Given the description of an element on the screen output the (x, y) to click on. 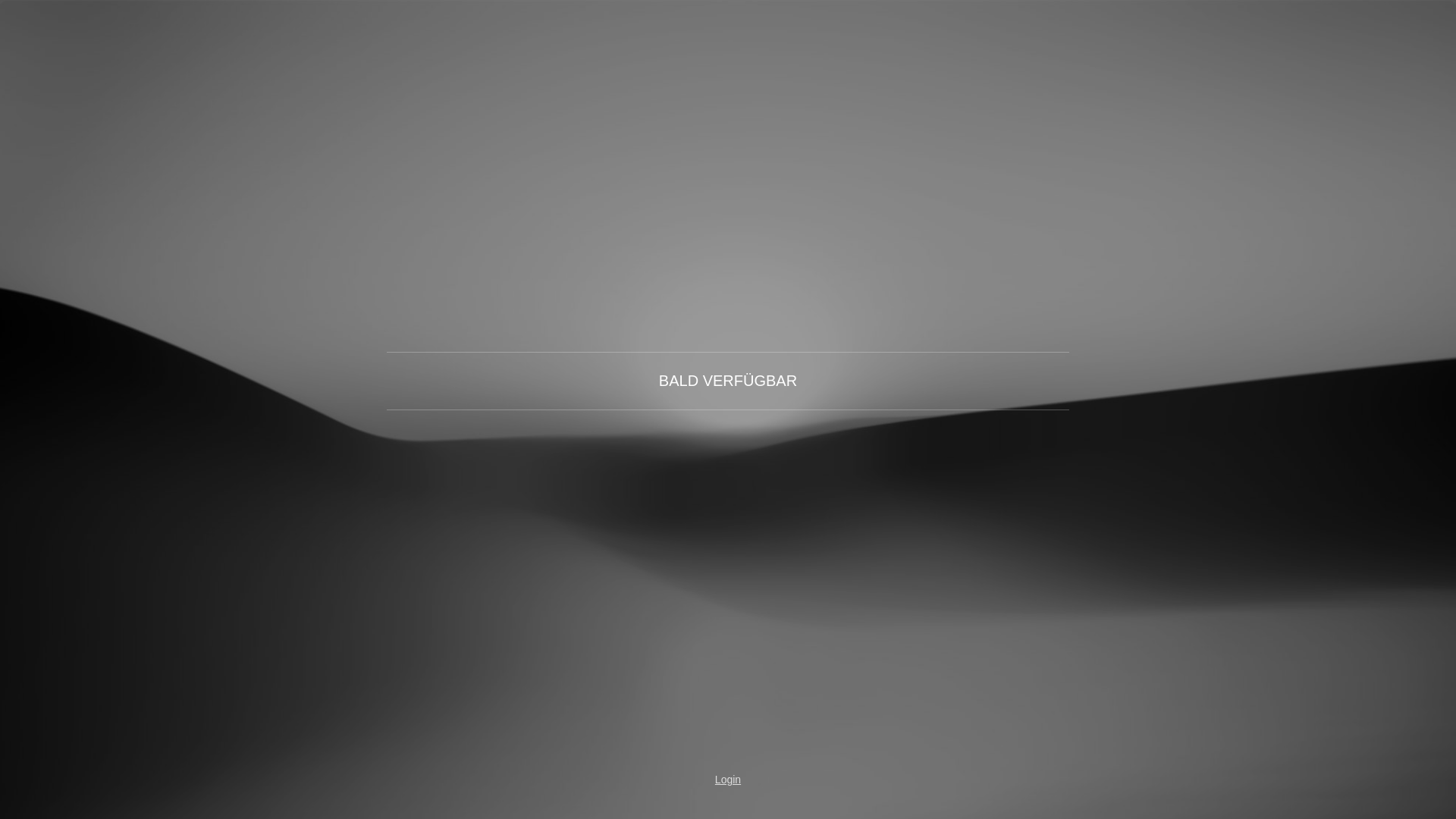
Login Element type: text (727, 779)
